Given the description of an element on the screen output the (x, y) to click on. 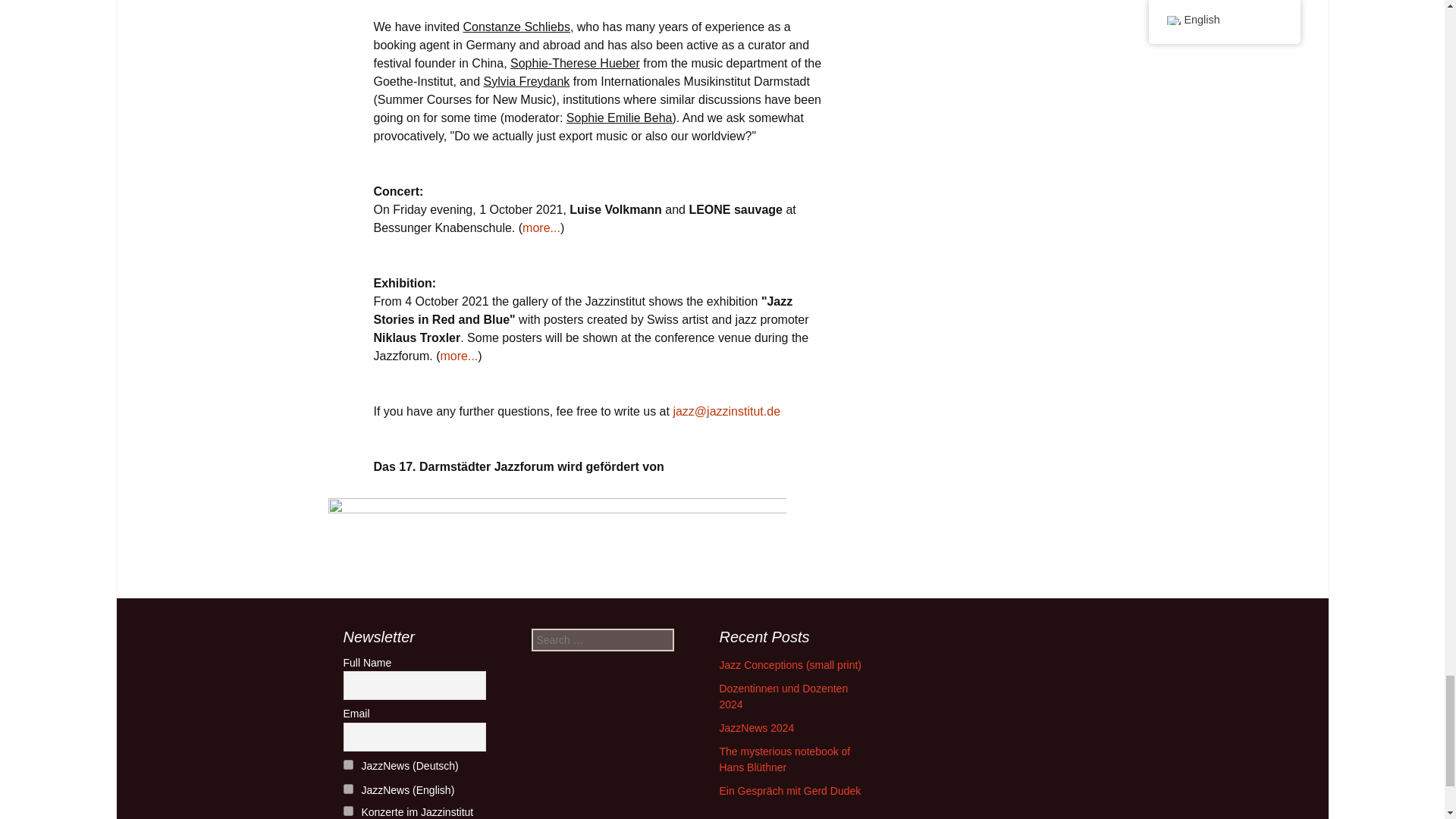
1 (347, 764)
3 (347, 810)
2 (347, 788)
